Given the description of an element on the screen output the (x, y) to click on. 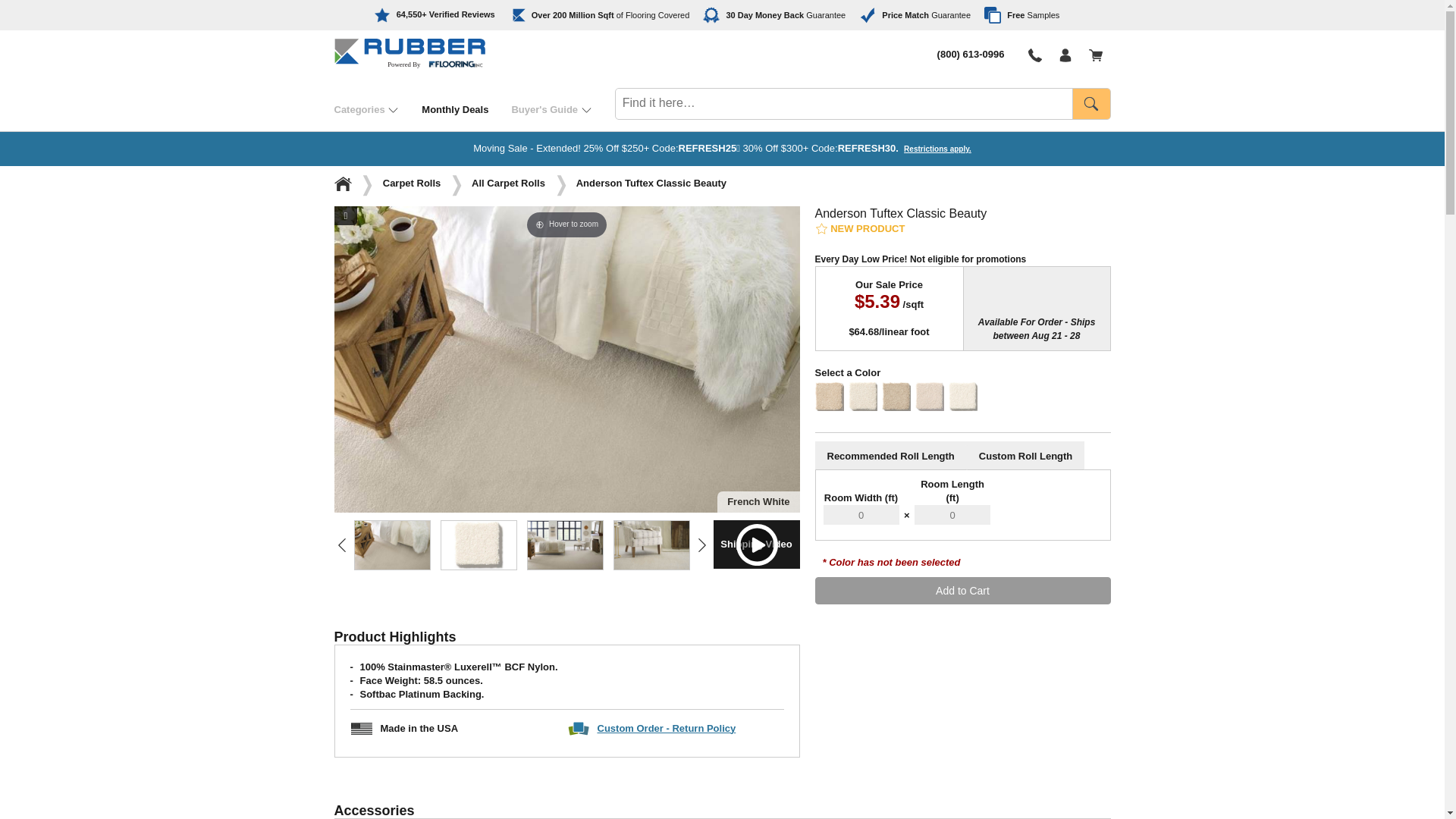
Aged Paper (737, 545)
30 Day Money Back Guarantee (774, 14)
French White (651, 545)
Price Match Guarantee (915, 14)
Categories (377, 109)
Search (1090, 103)
square feet (604, 14)
This product has no reviews (858, 228)
French White (478, 545)
French White (564, 545)
